Given the description of an element on the screen output the (x, y) to click on. 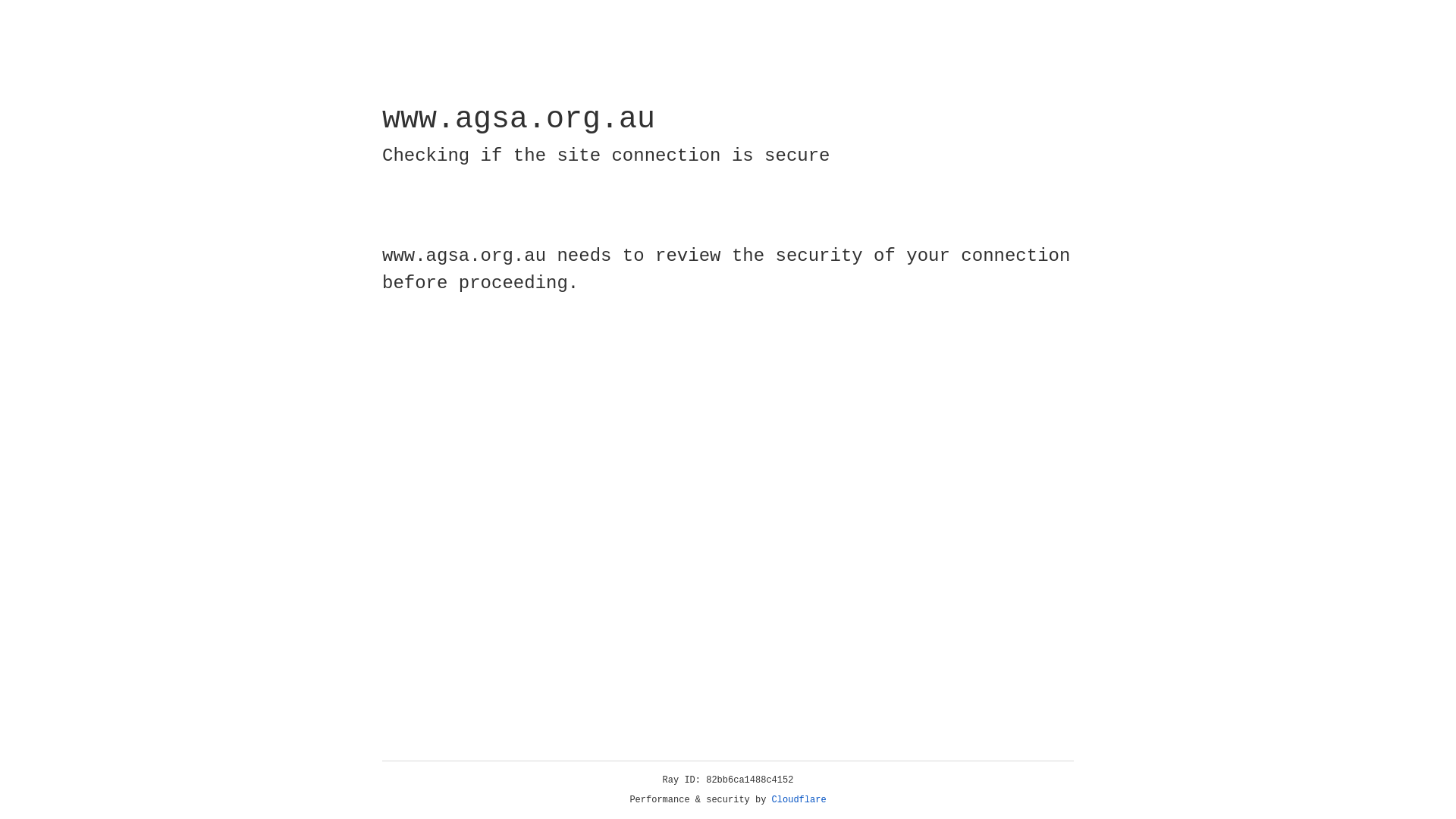
Cloudflare Element type: text (798, 799)
